Given the description of an element on the screen output the (x, y) to click on. 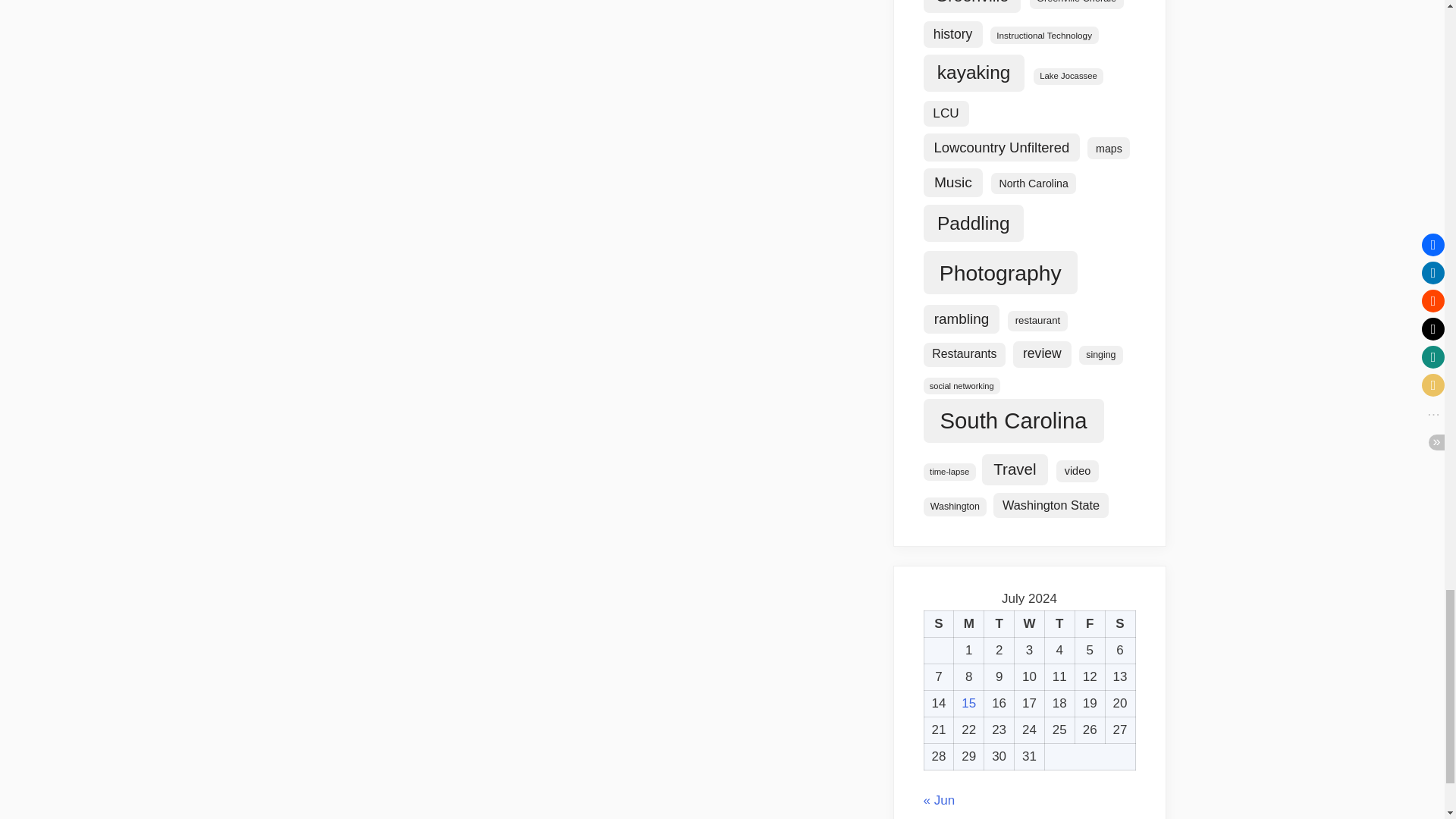
Monday (968, 624)
Tuesday (999, 624)
Wednesday (1029, 624)
Saturday (1120, 624)
Friday (1089, 624)
Sunday (938, 624)
Thursday (1058, 624)
